Given the description of an element on the screen output the (x, y) to click on. 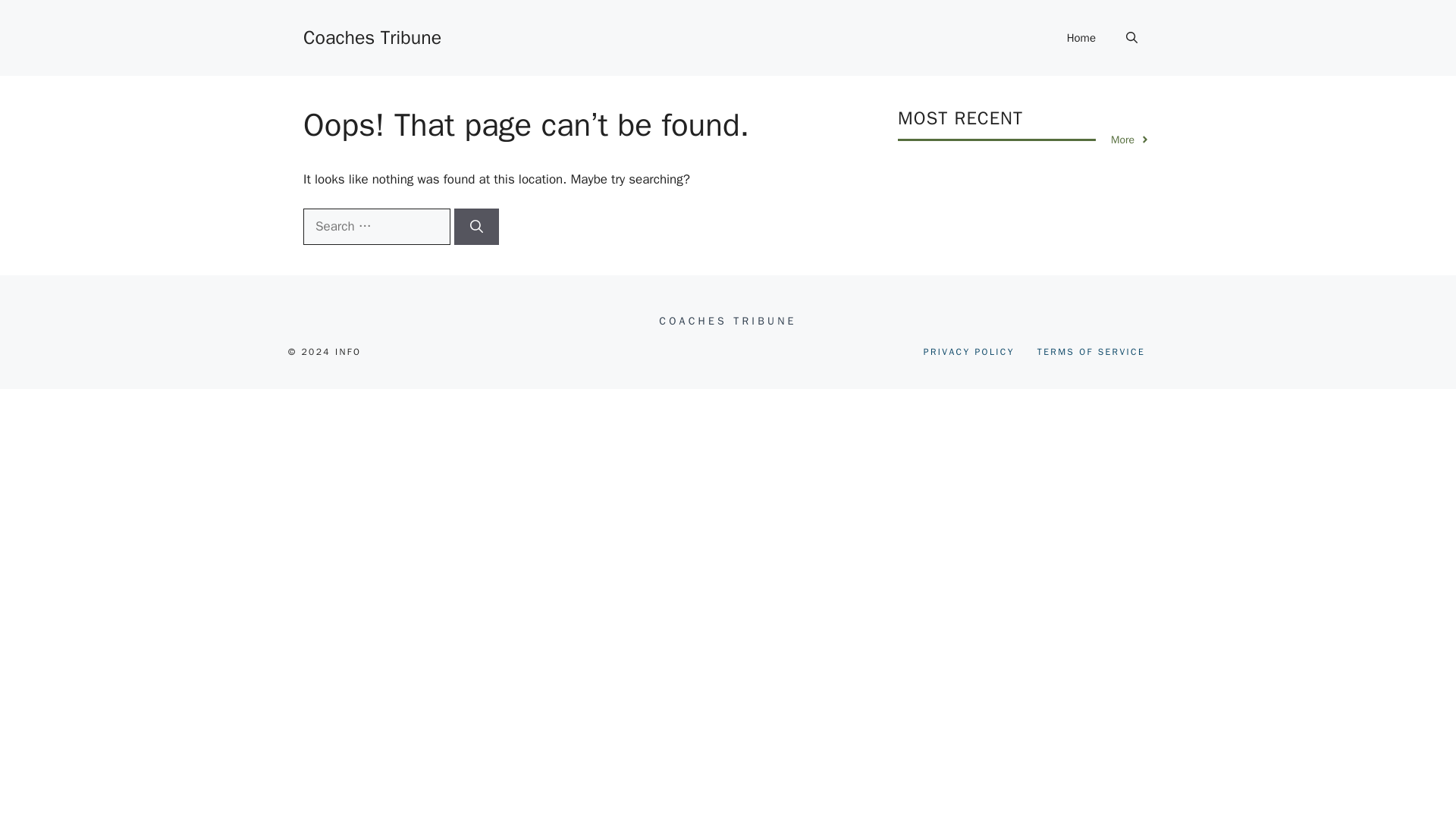
Home (1080, 37)
Search for: (375, 226)
TERMS OF SERVICE (1090, 351)
Coaches Tribune (371, 37)
PRIVACY POLICY (968, 351)
More (1130, 139)
